Given the description of an element on the screen output the (x, y) to click on. 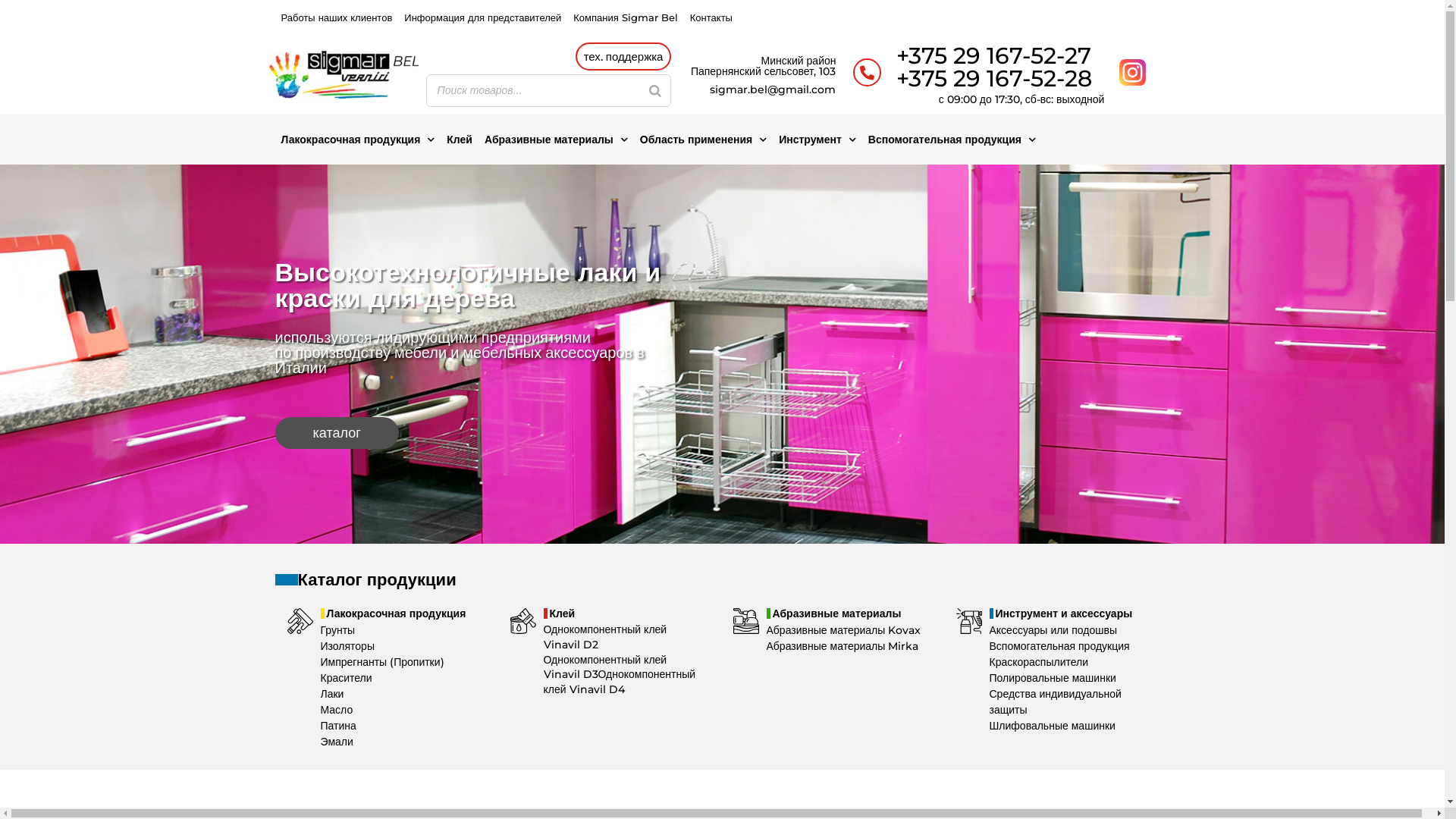
+375 29 167-52-27 Element type: text (993, 55)
+375 29 167-52-28 Element type: text (994, 78)
